Given the description of an element on the screen output the (x, y) to click on. 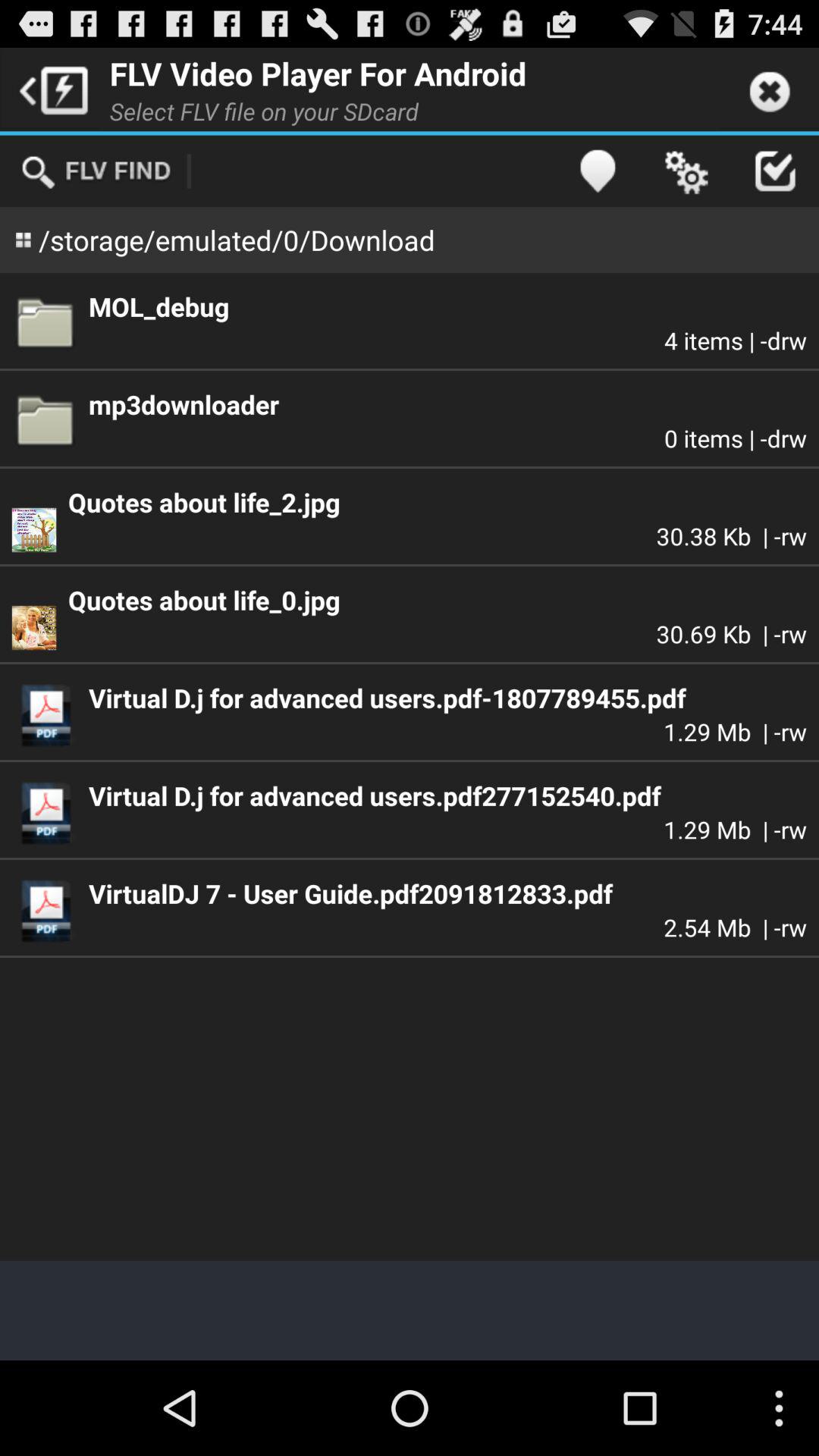
swipe to virtualdj 7 user app (447, 893)
